Given the description of an element on the screen output the (x, y) to click on. 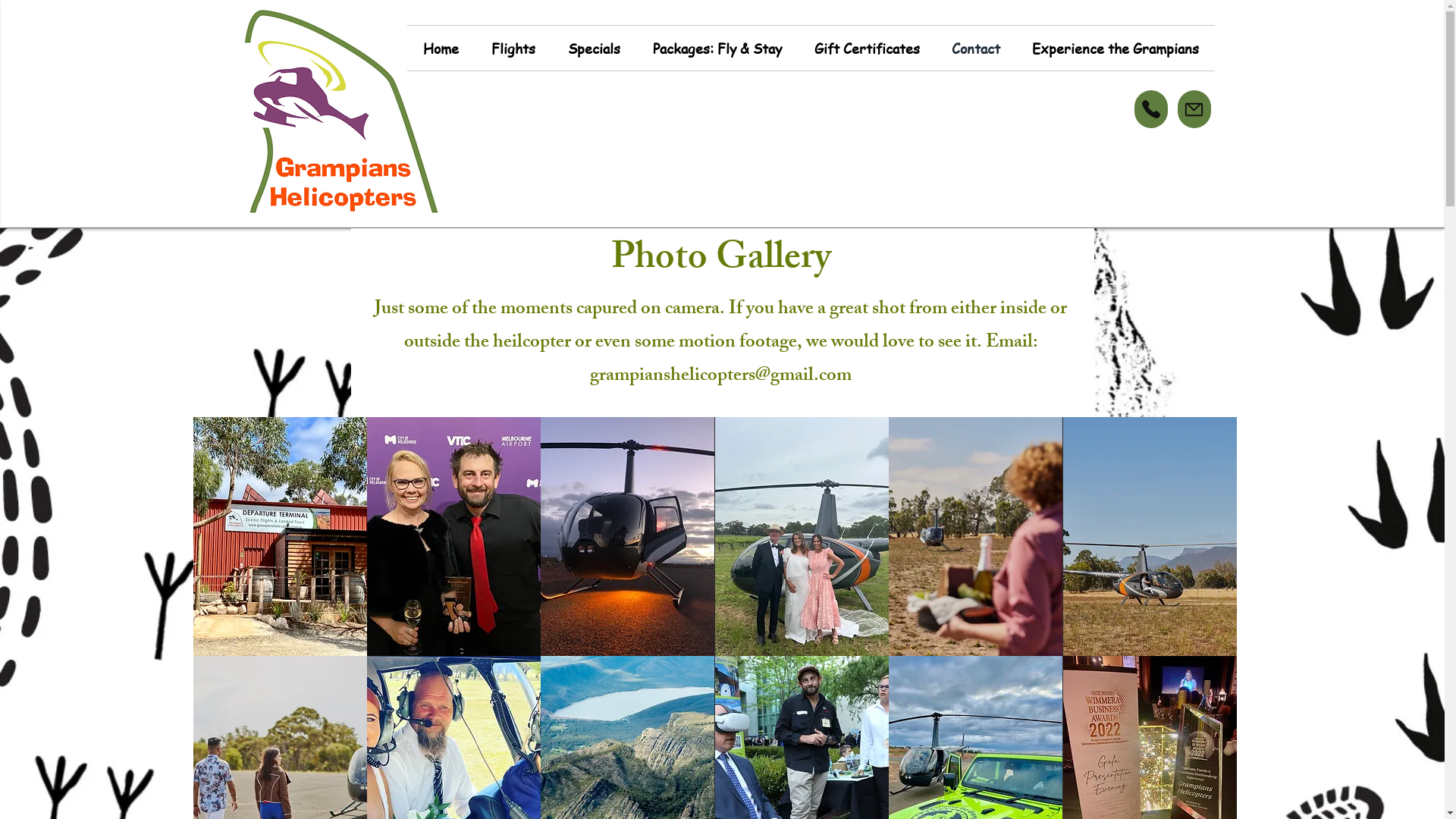
Contact Element type: text (975, 47)
Flights Element type: text (512, 47)
Gift Certificates Element type: text (866, 47)
grampianshelicopters@gmail.com Element type: text (720, 376)
Specials Element type: text (594, 47)
Experience the Grampians Element type: text (1115, 47)
Home Element type: text (440, 47)
Packages: Fly & Stay Element type: text (717, 47)
